Given the description of an element on the screen output the (x, y) to click on. 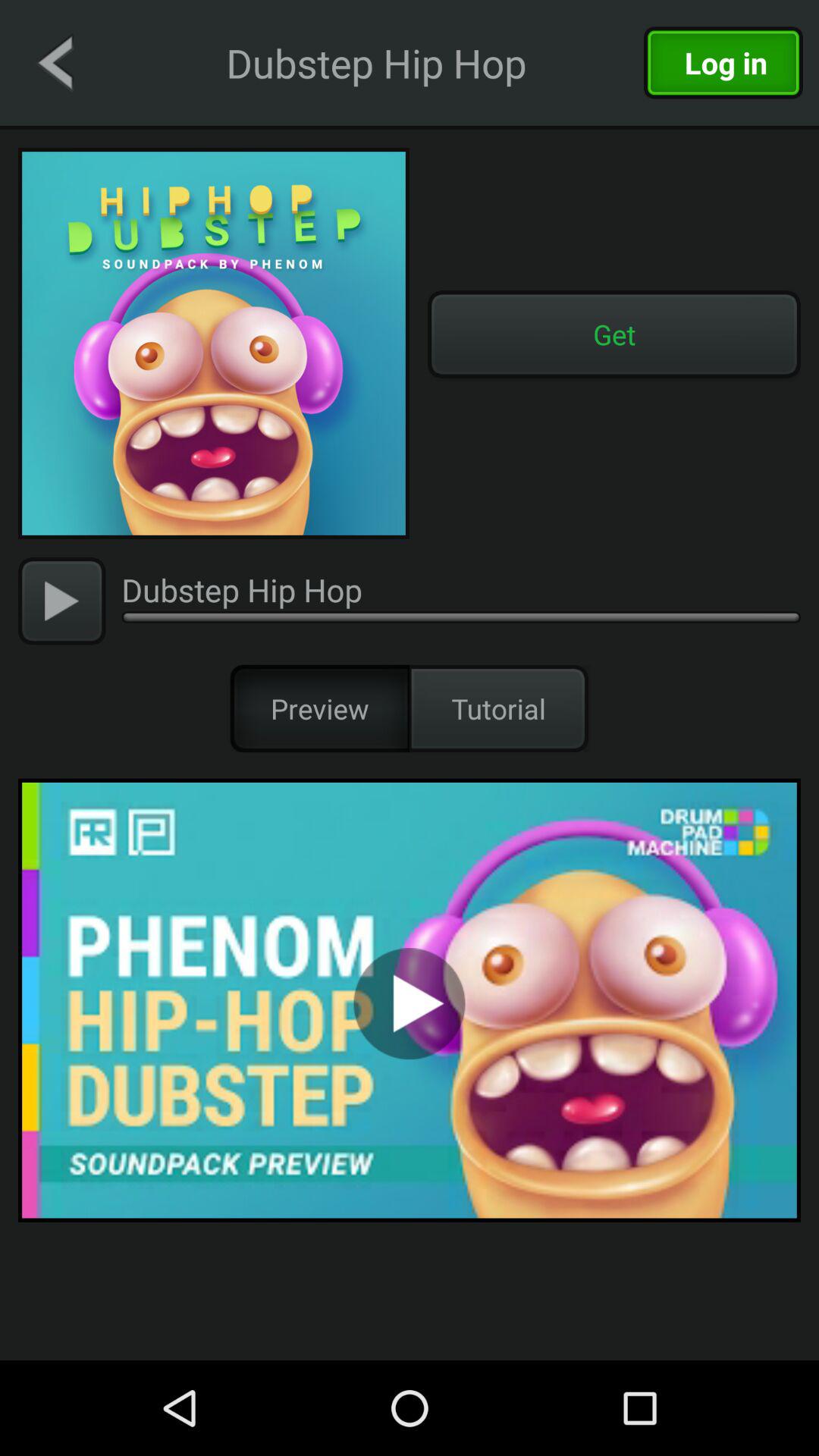
turn on the item below preview icon (409, 1000)
